Given the description of an element on the screen output the (x, y) to click on. 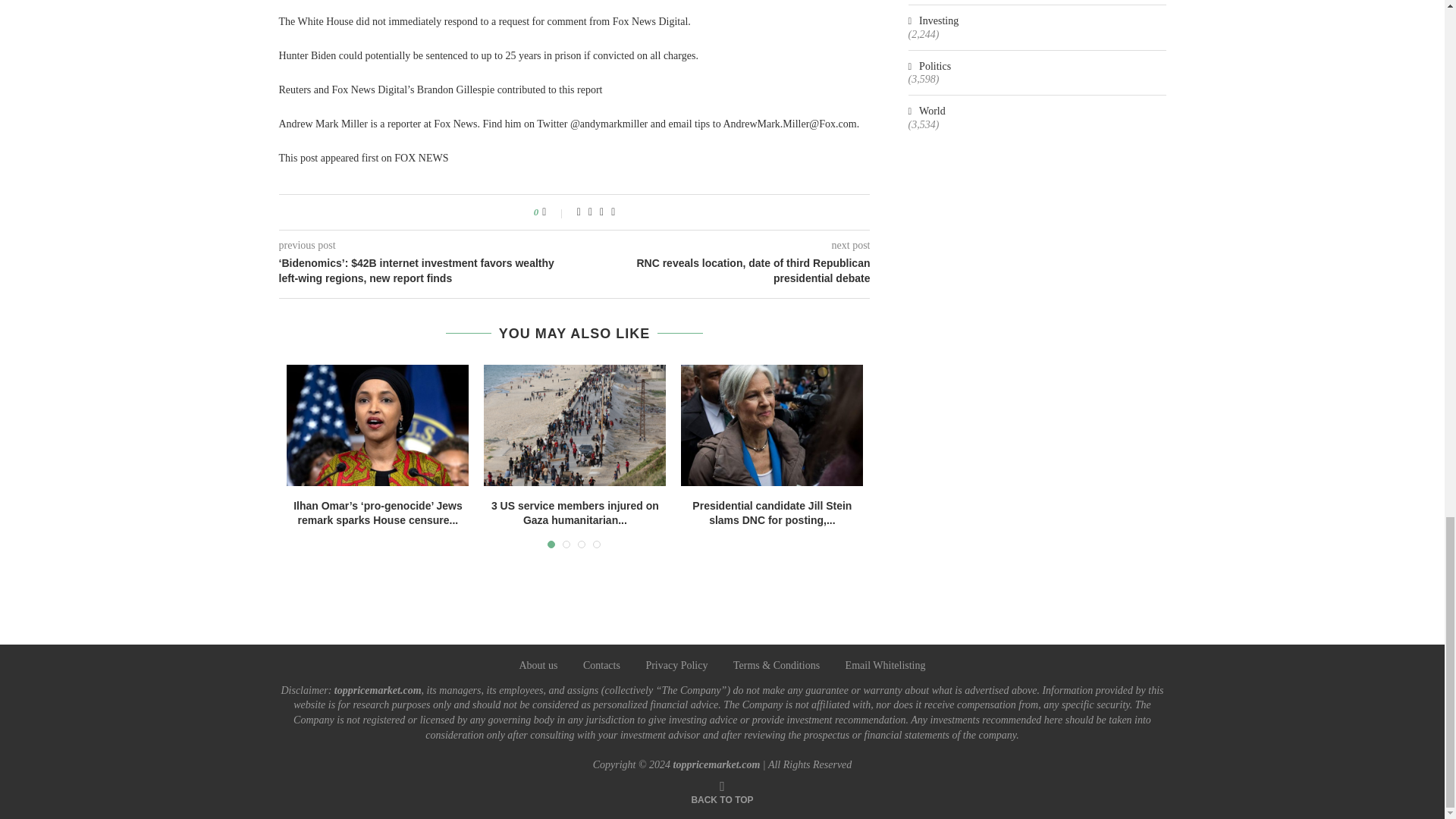
3 US service members injured on Gaza humanitarian... (575, 513)
Like (553, 212)
Presidential candidate Jill Stein slams DNC for posting,... (772, 513)
